Given the description of an element on the screen output the (x, y) to click on. 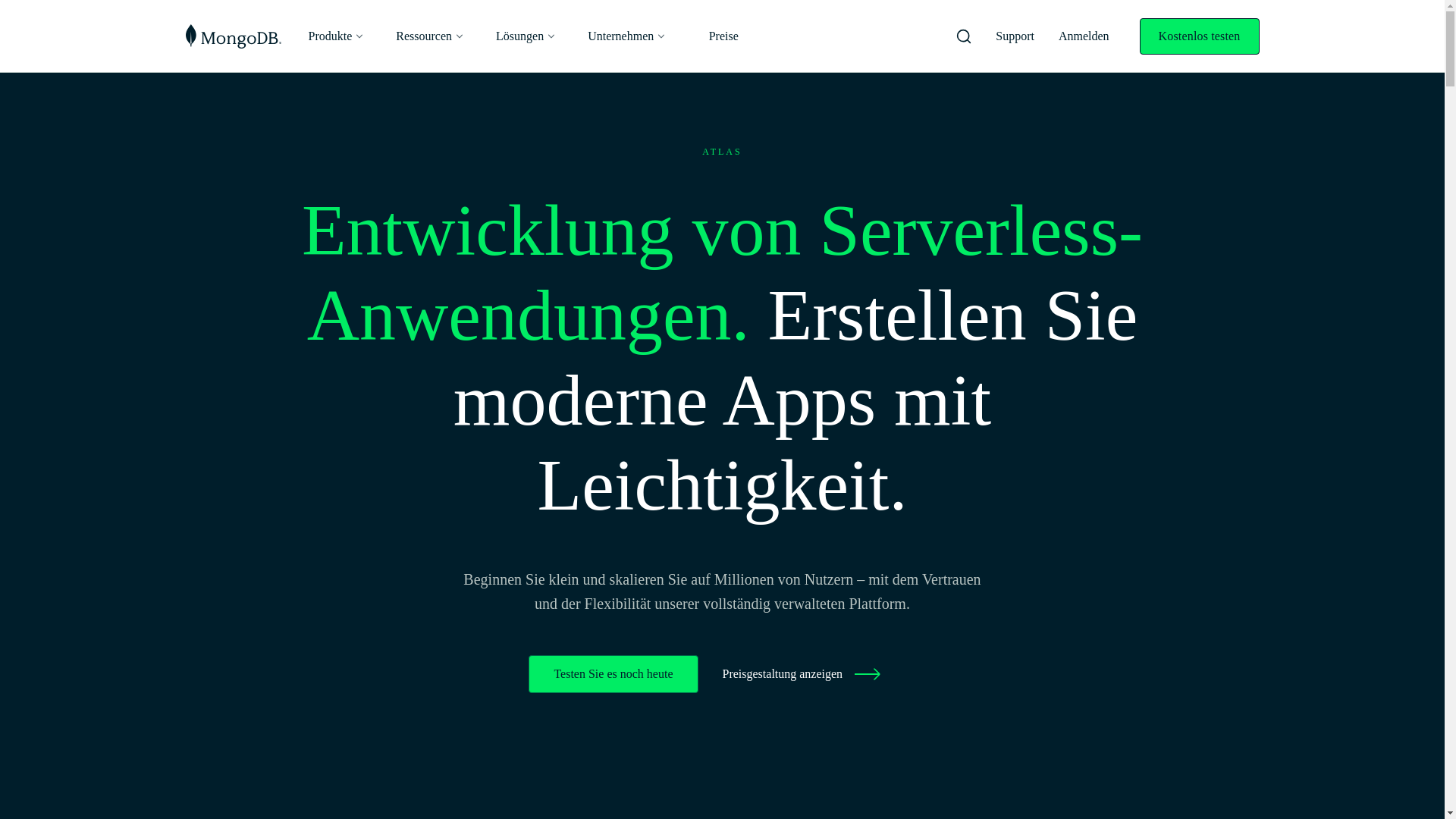
Ressourcen (430, 36)
